Given the description of an element on the screen output the (x, y) to click on. 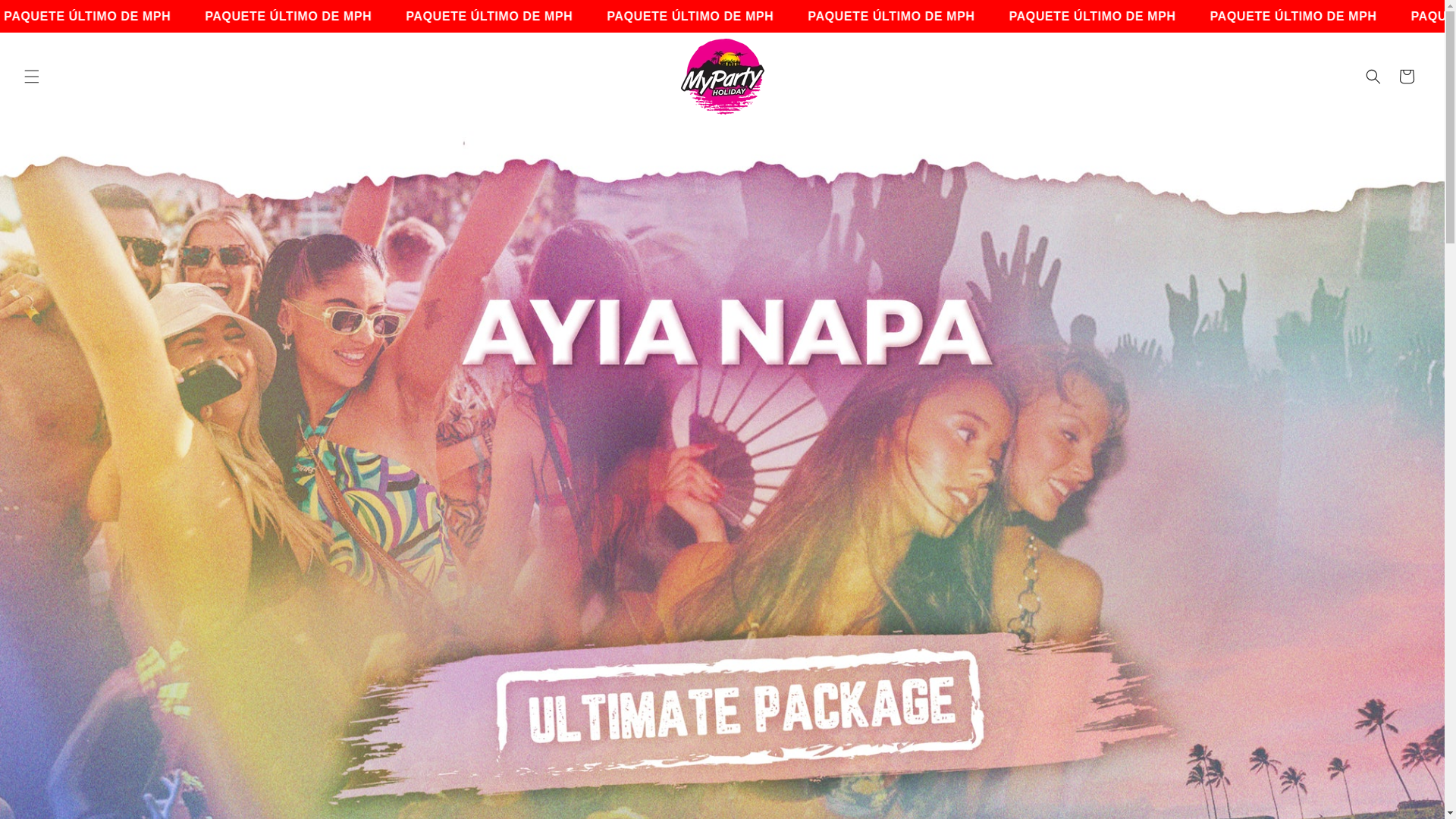
Ir directamente al contenido (45, 17)
